Given the description of an element on the screen output the (x, y) to click on. 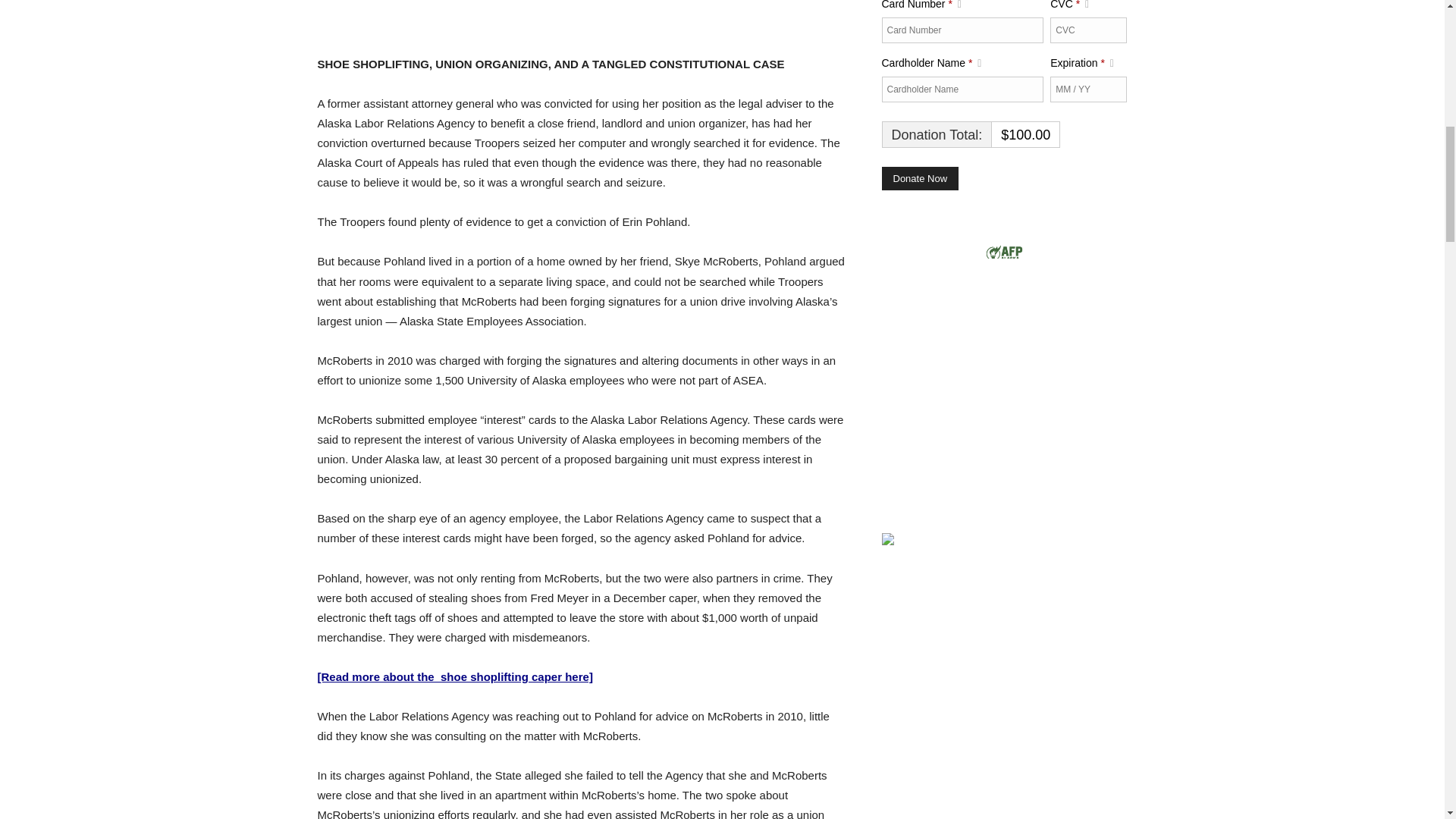
Donate Now (919, 178)
